Given the description of an element on the screen output the (x, y) to click on. 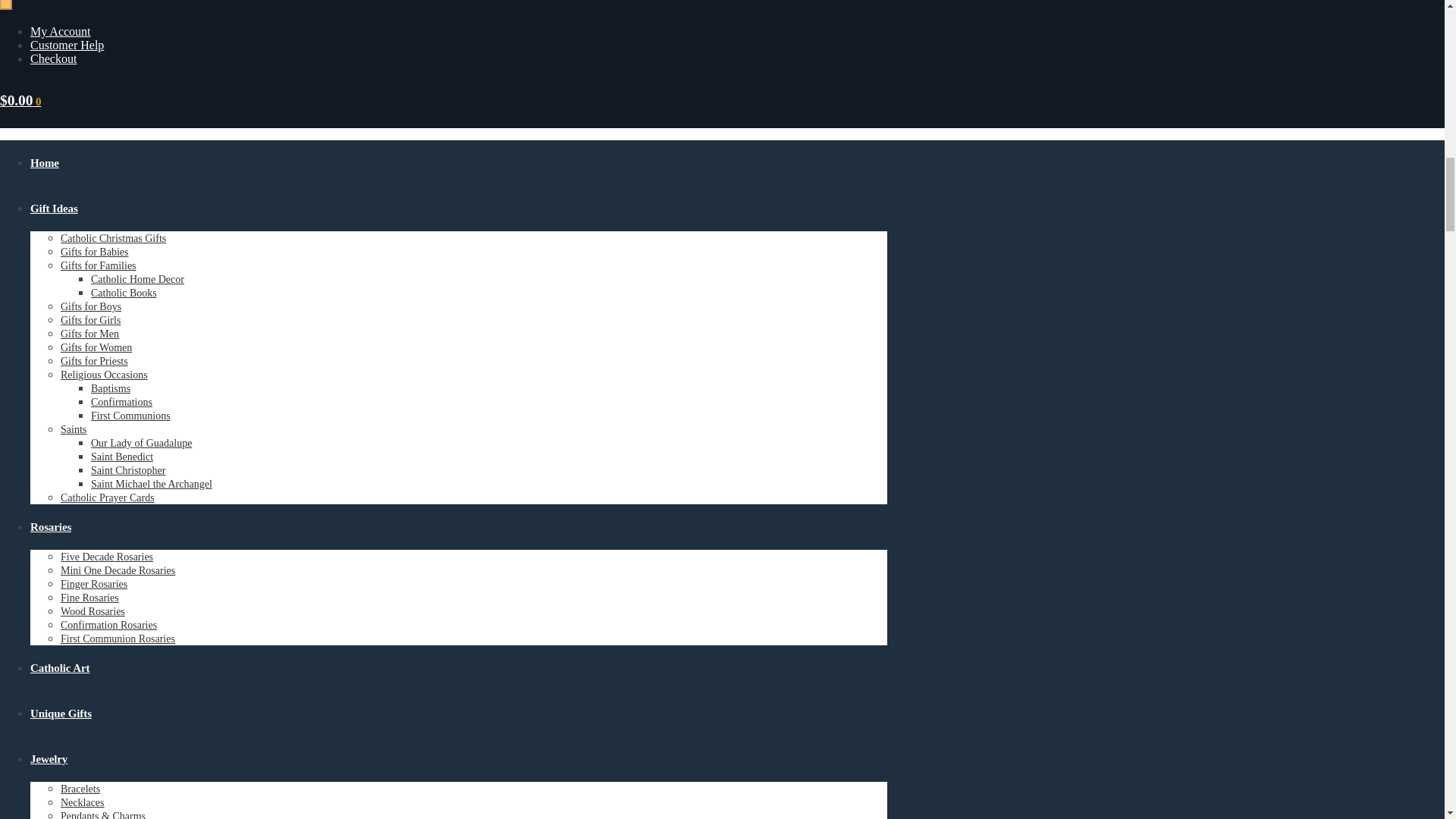
Fine Rosaries (90, 597)
Rosaries (50, 526)
Catholic Prayer Cards (107, 497)
Saints (73, 429)
Home (44, 162)
Wood Rosaries (93, 611)
Finger Rosaries (94, 583)
Religious Occasions (104, 374)
Saint Christopher (127, 470)
Confirmations (121, 401)
